Given the description of an element on the screen output the (x, y) to click on. 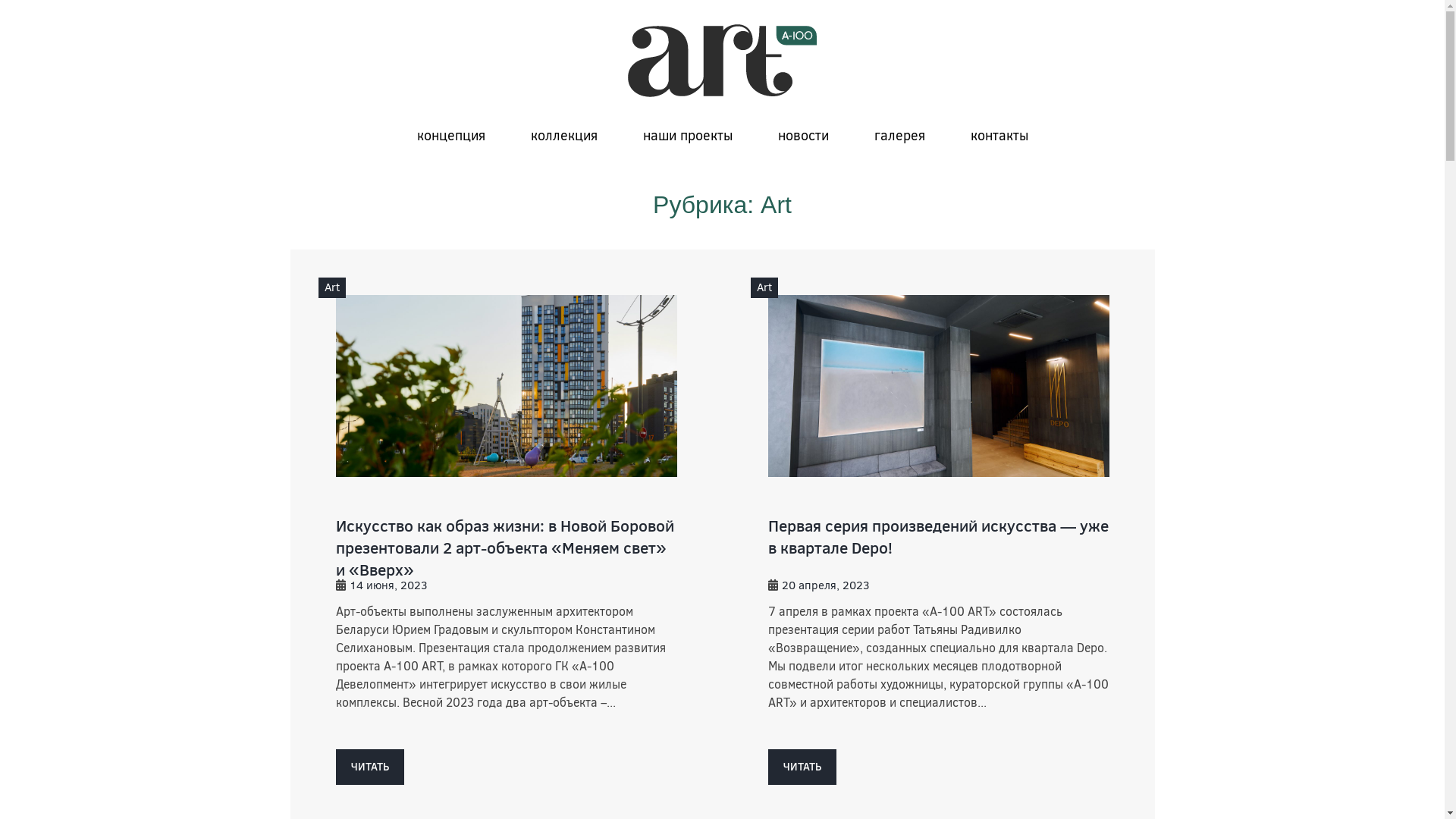
Art Element type: text (764, 287)
Art Element type: text (331, 287)
